Given the description of an element on the screen output the (x, y) to click on. 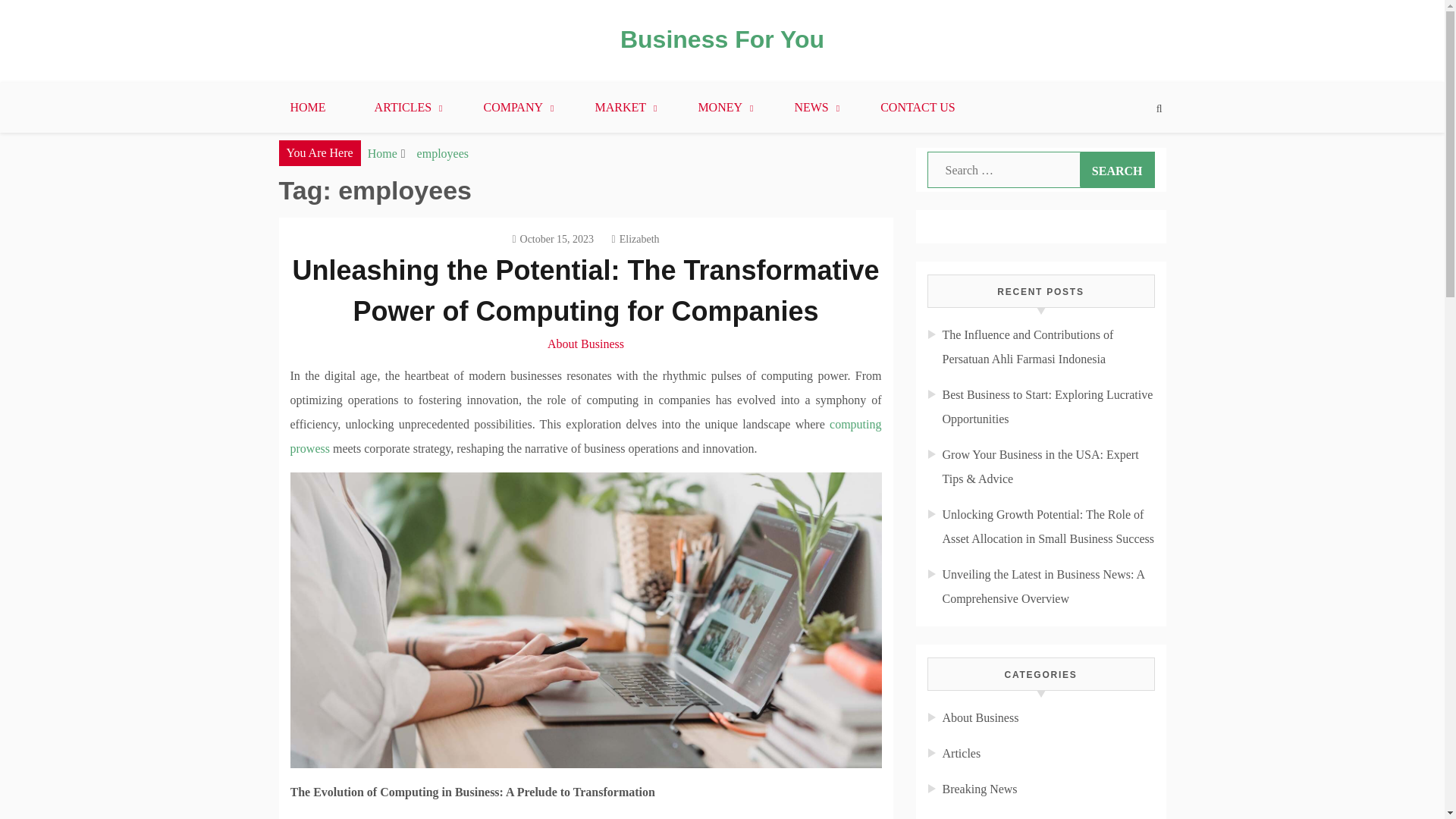
Home (382, 153)
MARKET (621, 107)
computing prowess (584, 436)
ARTICLES (405, 107)
HOME (306, 107)
Search (1117, 169)
Business For You (722, 39)
MONEY (721, 107)
NEWS (812, 107)
About Business (585, 343)
Elizabeth (635, 238)
COMPANY (514, 107)
Search (1117, 169)
CONTACT US (916, 107)
